Given the description of an element on the screen output the (x, y) to click on. 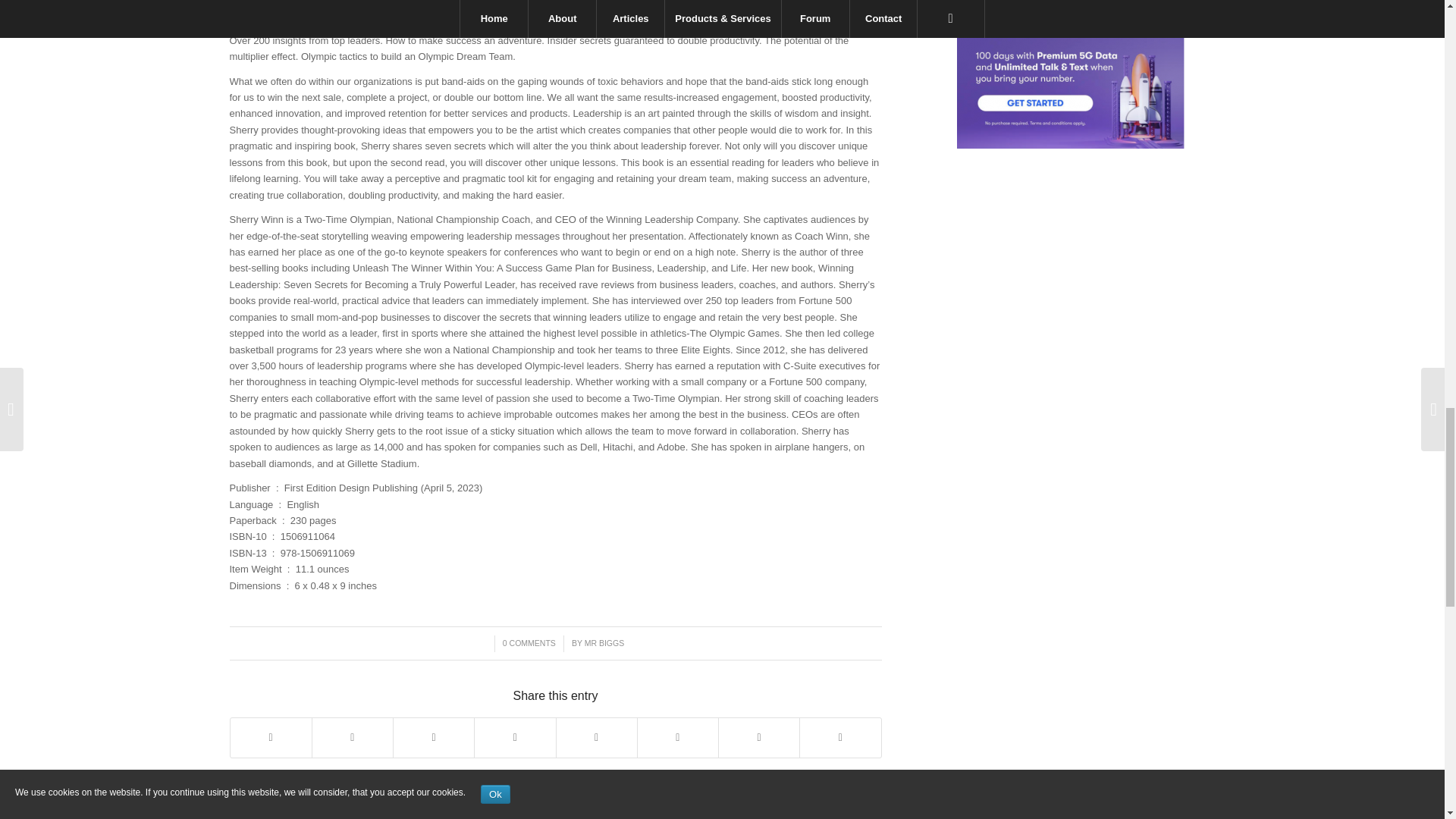
MR BIGGS (604, 642)
Posts by Mr Biggs (604, 642)
0 COMMENTS (529, 642)
